Given the description of an element on the screen output the (x, y) to click on. 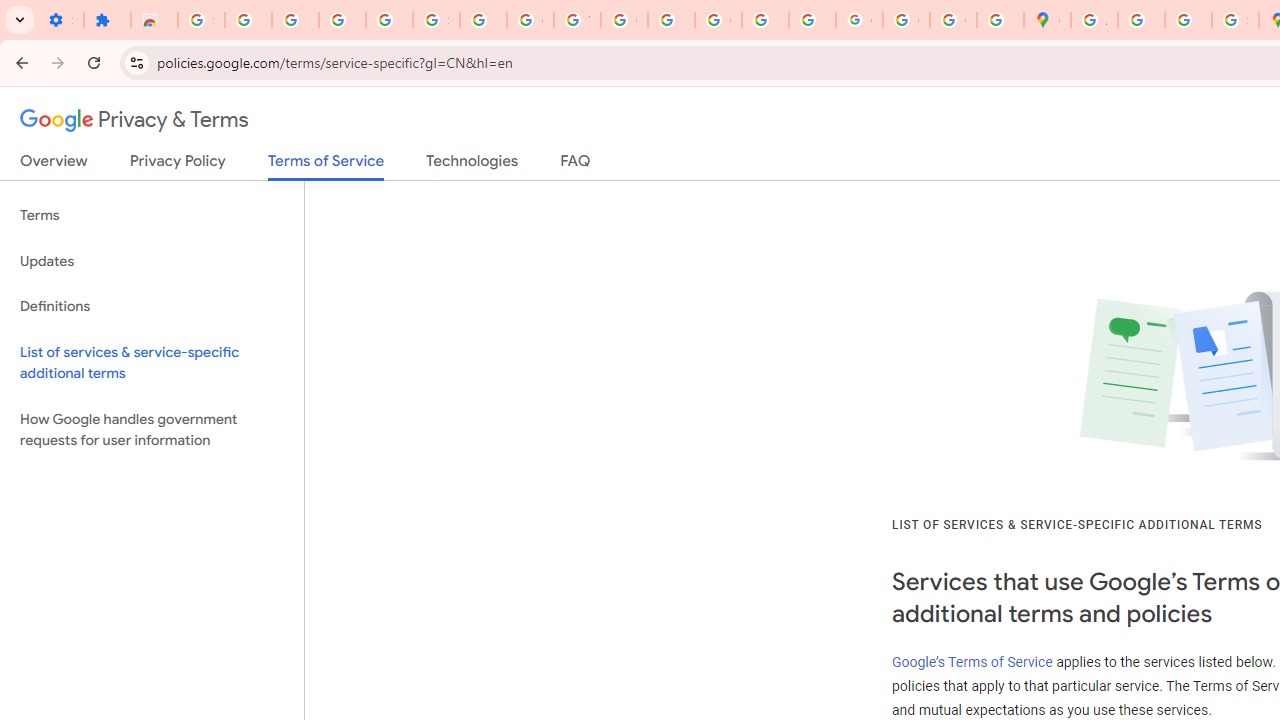
https://scholar.google.com/ (671, 20)
Google Account (530, 20)
Safety in Our Products - Google Safety Center (1235, 20)
Reviews: Helix Fruit Jump Arcade Game (153, 20)
